Given the description of an element on the screen output the (x, y) to click on. 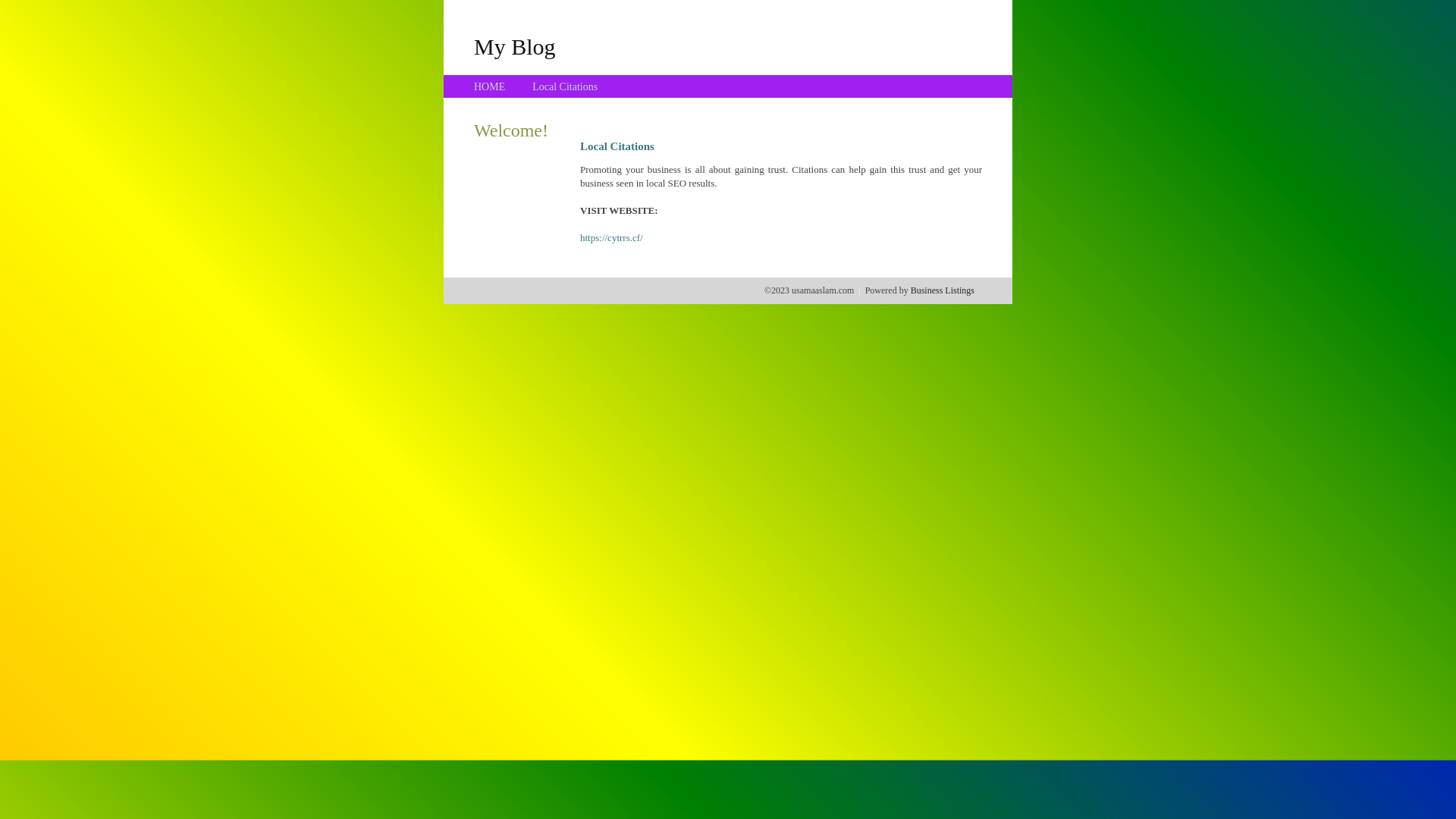
https://cytrrs.cf/ Element type: text (611, 237)
Local Citations Element type: text (564, 86)
Business Listings Element type: text (942, 290)
My Blog Element type: text (514, 46)
HOME Element type: text (489, 86)
